Given the description of an element on the screen output the (x, y) to click on. 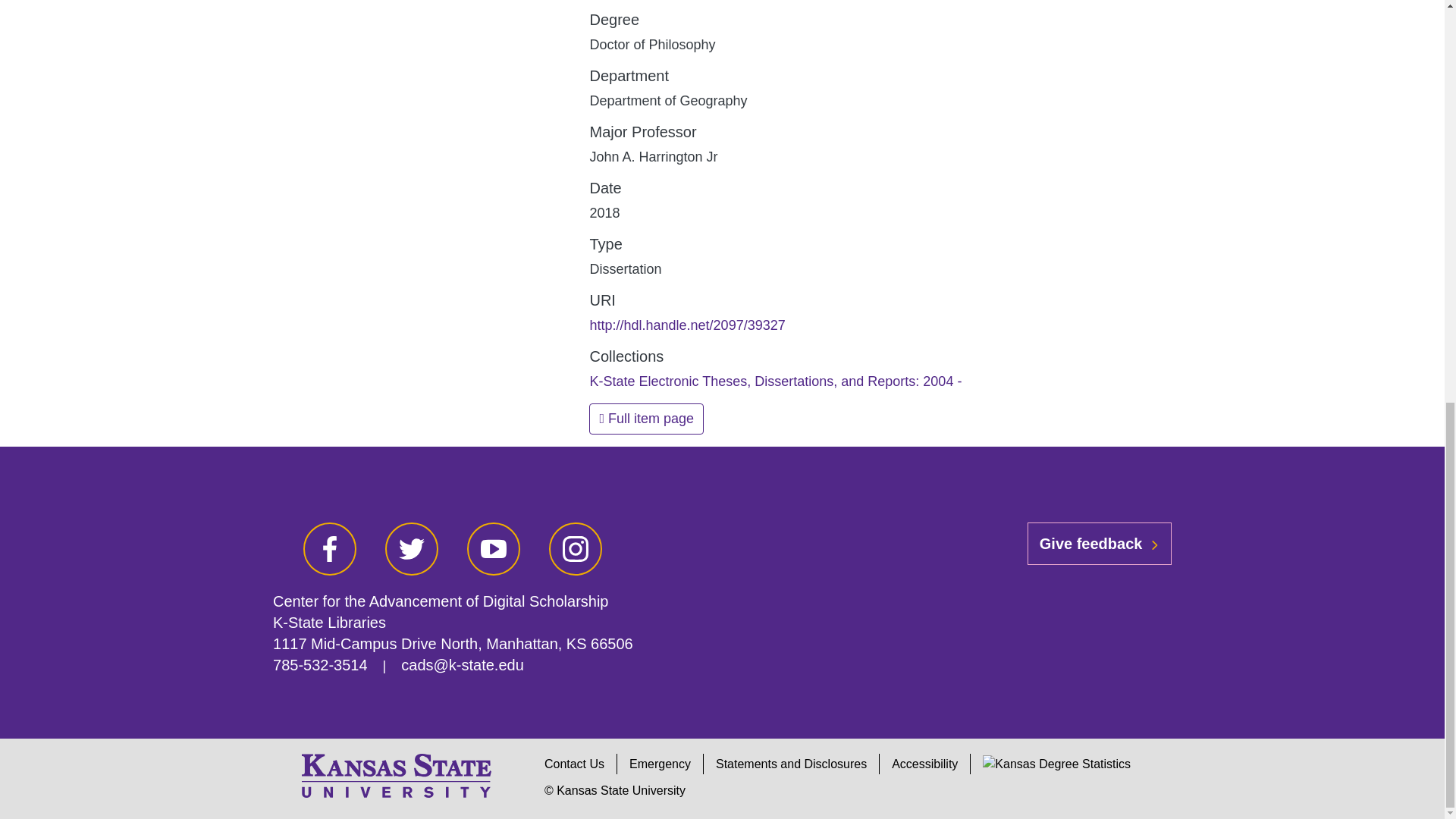
chevron (1154, 544)
785-532-3514 (320, 664)
Full item page (646, 418)
